Given the description of an element on the screen output the (x, y) to click on. 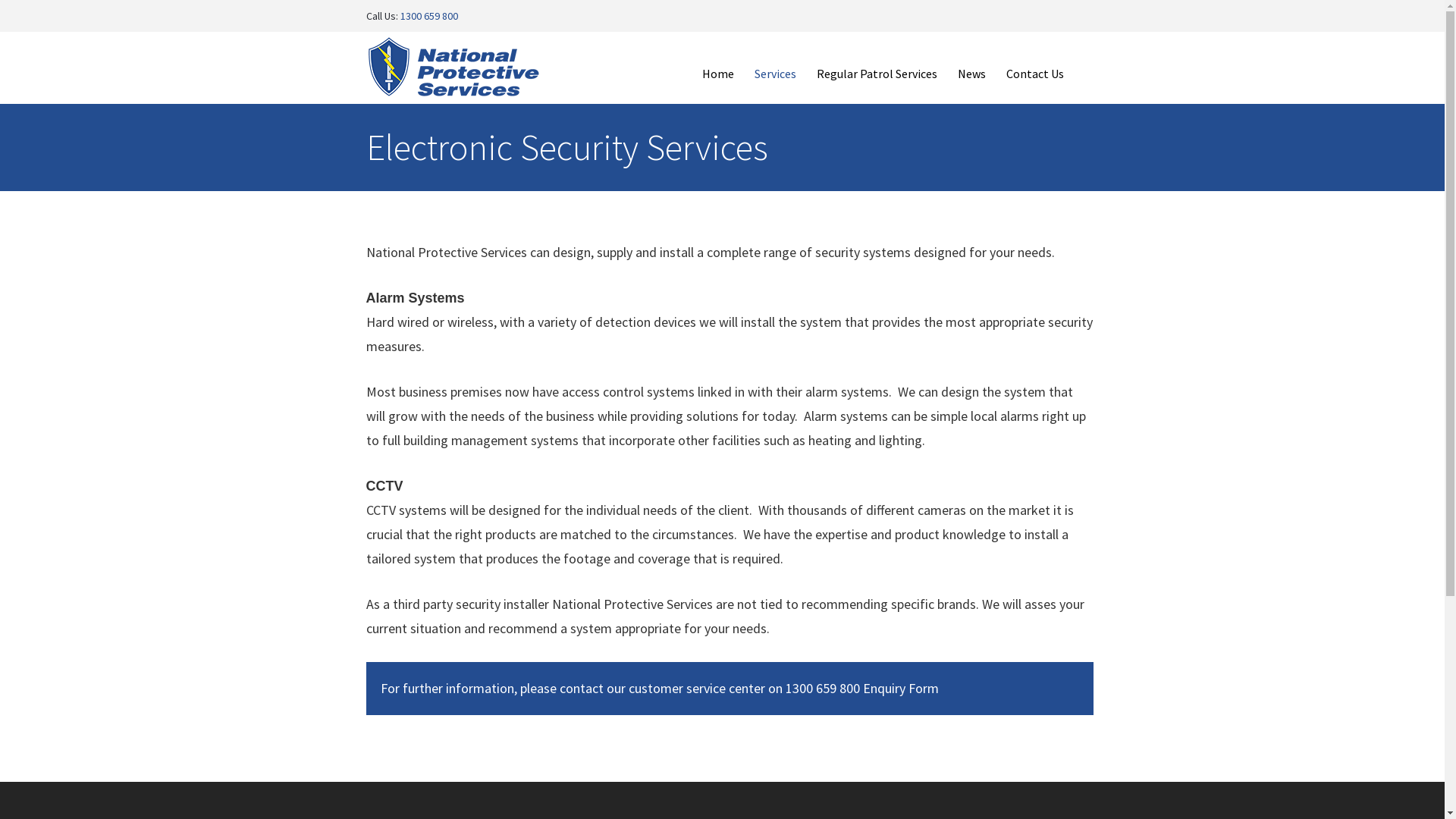
Enquiry Form Element type: text (900, 687)
News Element type: text (970, 74)
Regular Patrol Services Element type: text (875, 74)
Contact Us Element type: text (1034, 74)
Home Element type: text (718, 74)
1300 659 800 Element type: text (429, 15)
Services Element type: text (774, 74)
